Given the description of an element on the screen output the (x, y) to click on. 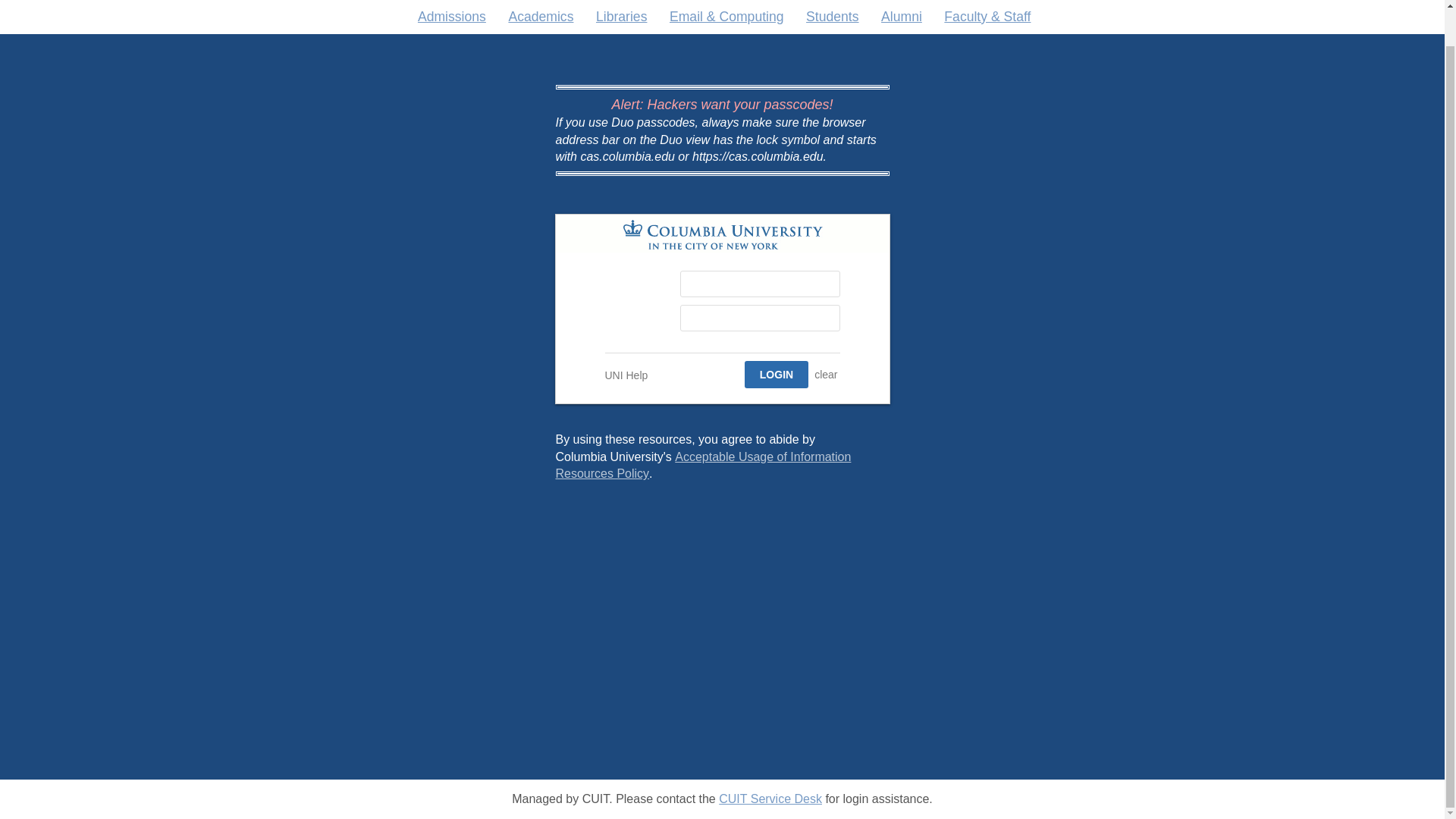
CLEAR (826, 374)
Acceptable Usage of Information Resources Policy (702, 464)
UNI Help (626, 375)
LOGIN (776, 374)
CUIT Service Desk (770, 760)
LOGIN (776, 374)
